Given the description of an element on the screen output the (x, y) to click on. 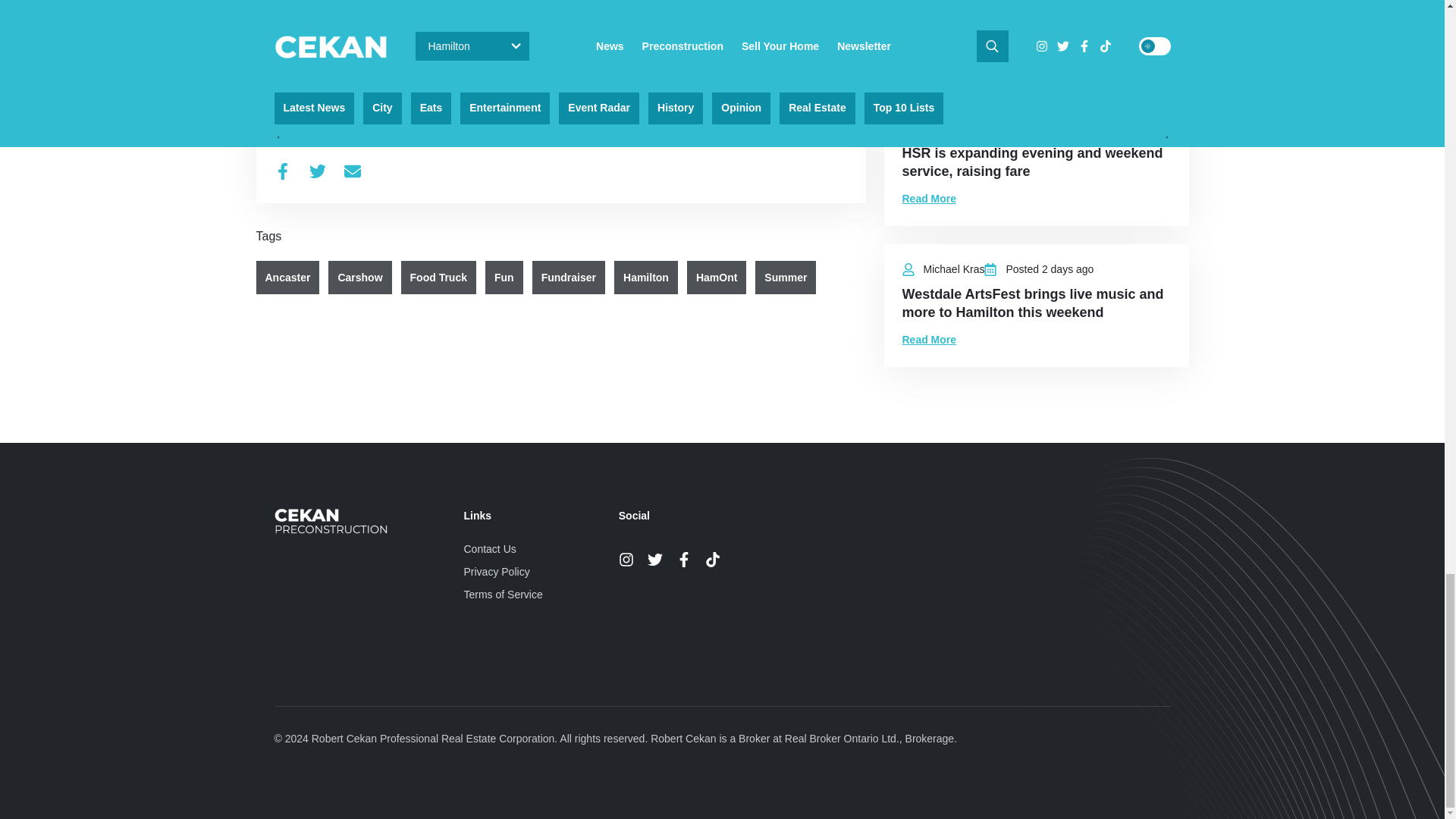
Fun (503, 277)
Ancaster (288, 277)
Carshow (360, 277)
Food Truck (438, 277)
Fundraiser (568, 277)
Post a comment (315, 63)
